Given the description of an element on the screen output the (x, y) to click on. 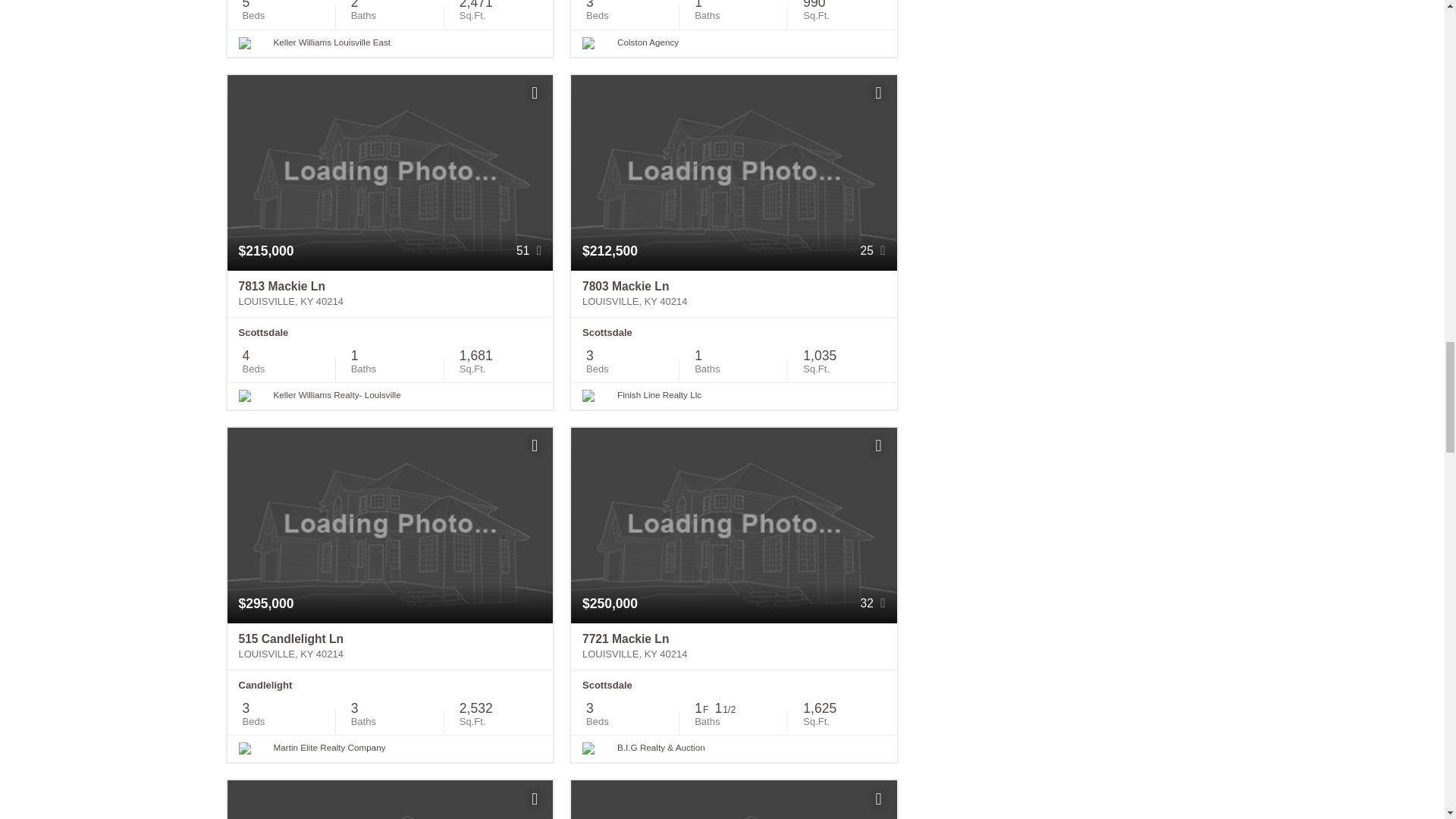
7803 Mackie Ln Louisville,  KY 40214 (733, 294)
515 Candlelight Ln Louisville,  KY 40214 (390, 646)
7813 Mackie Ln Louisville,  KY 40214 (390, 294)
7721 Mackie Ln Louisville,  KY 40214 (733, 646)
